Given the description of an element on the screen output the (x, y) to click on. 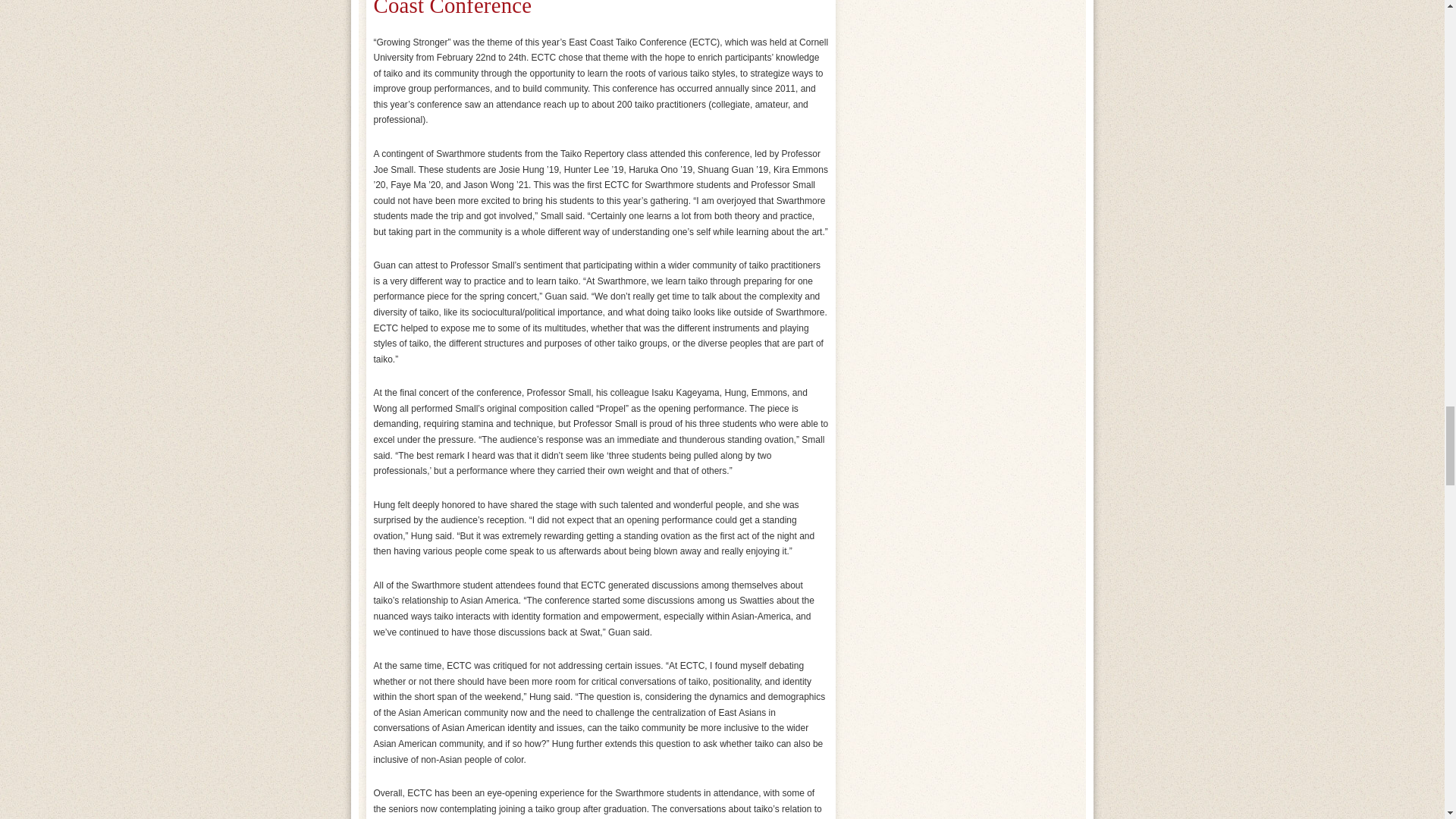
Swarthmore Taiko Students Represent at East Coast Conference (575, 8)
